Given the description of an element on the screen output the (x, y) to click on. 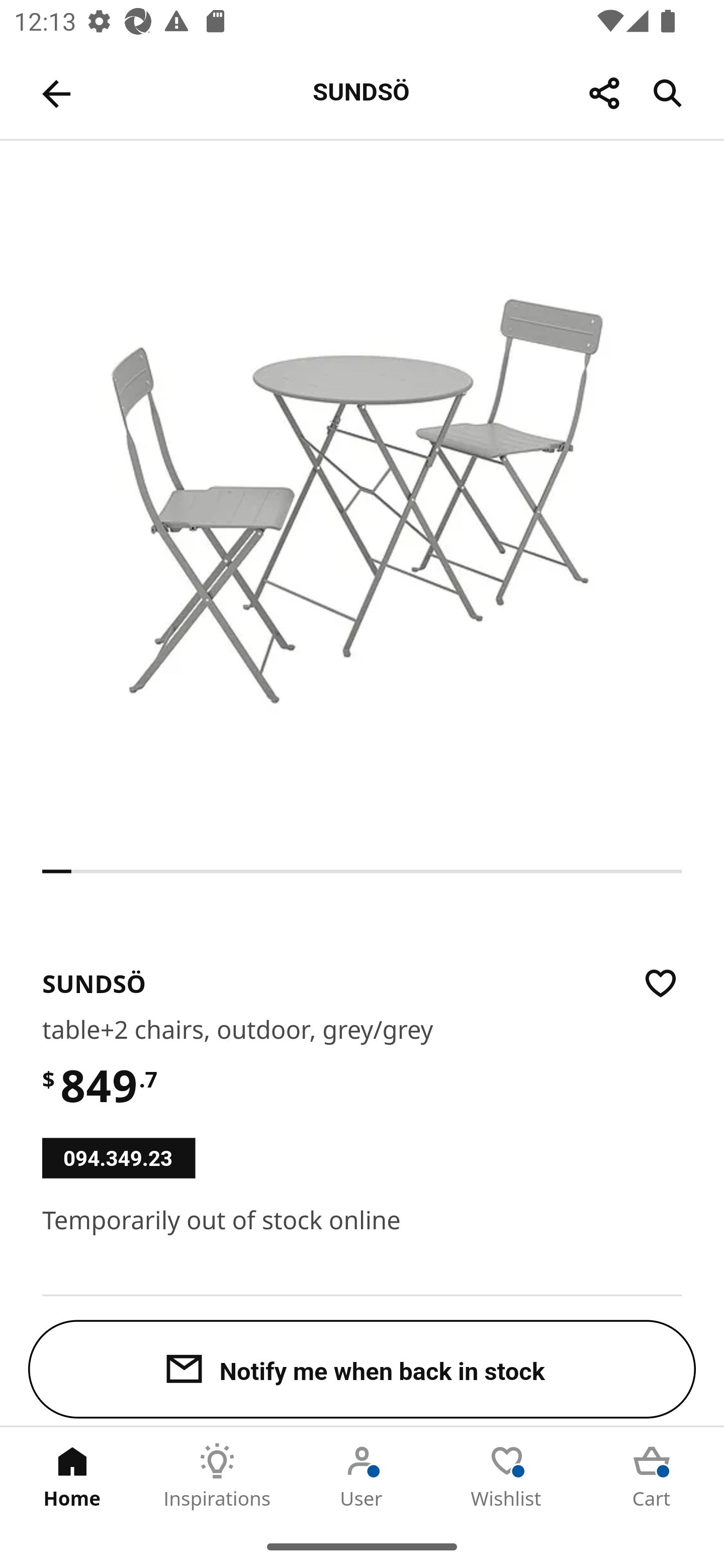
Notify me when back in stock (361, 1369)
Home
Tab 1 of 5 (72, 1476)
Inspirations
Tab 2 of 5 (216, 1476)
User
Tab 3 of 5 (361, 1476)
Wishlist
Tab 4 of 5 (506, 1476)
Cart
Tab 5 of 5 (651, 1476)
